Given the description of an element on the screen output the (x, y) to click on. 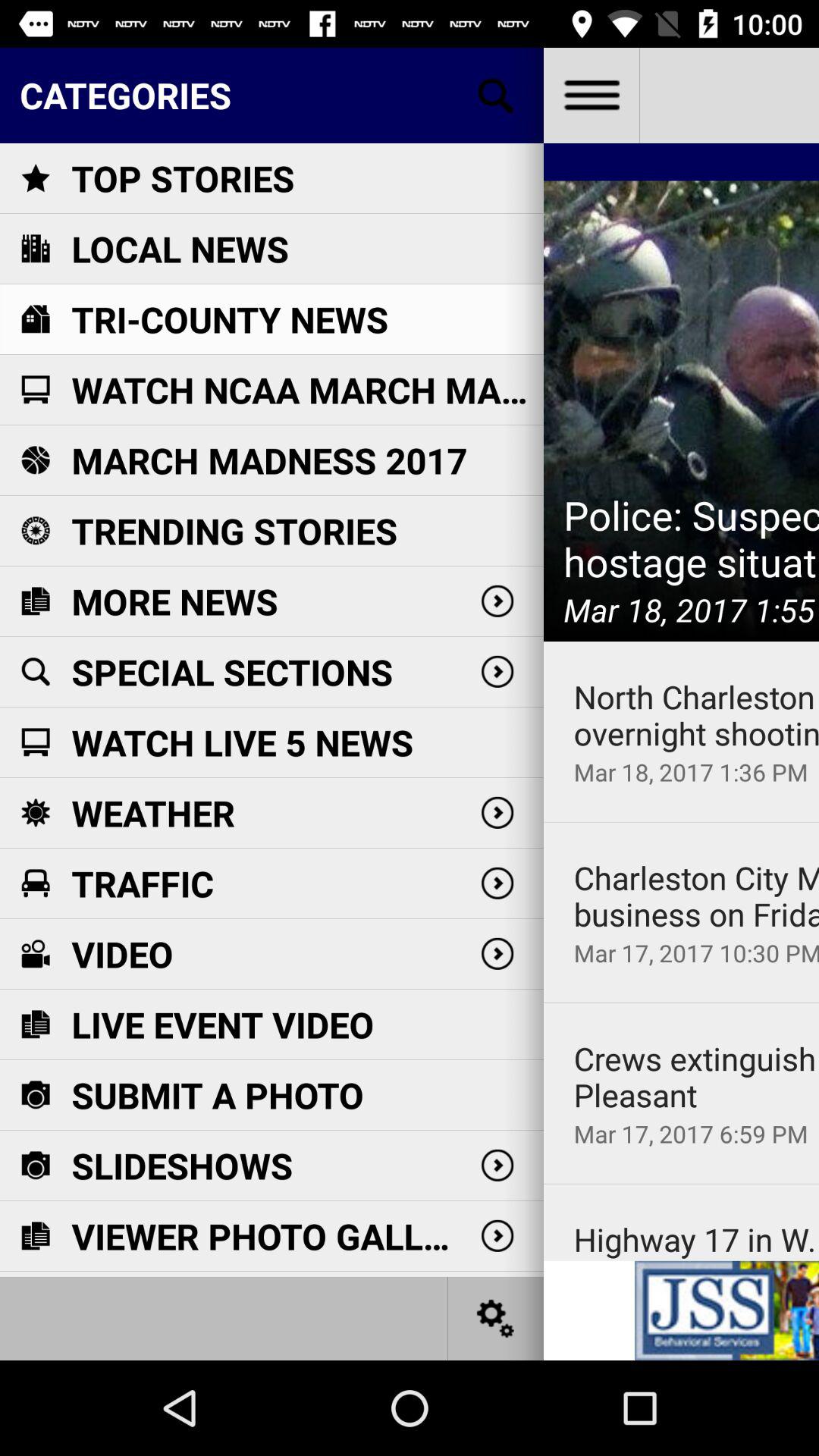
search initiation click (495, 95)
